Given the description of an element on the screen output the (x, y) to click on. 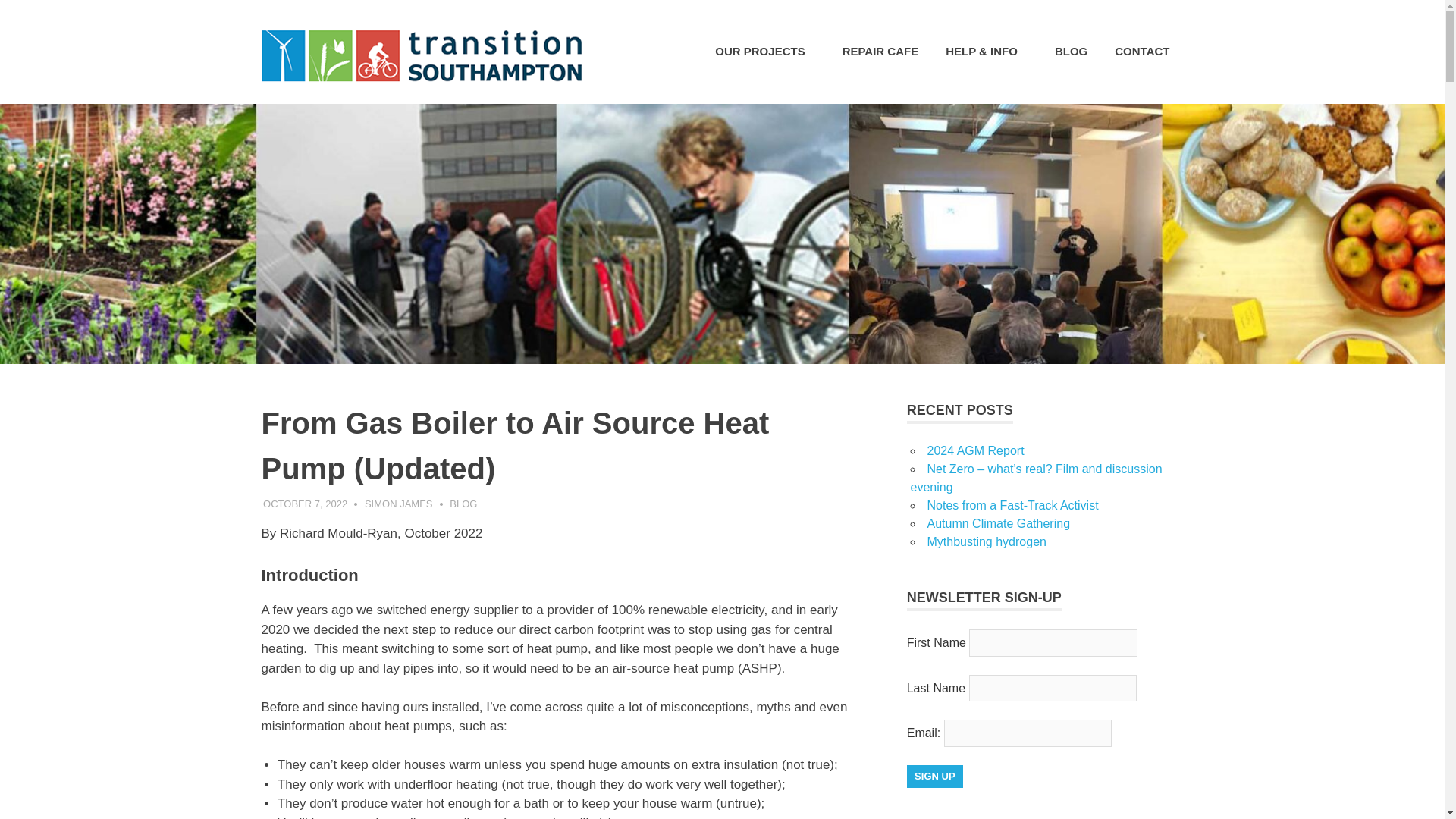
BLOG (1070, 51)
BLOG (463, 503)
CONTACT (1141, 51)
OUR PROJECTS (764, 51)
View all posts by Simon James (398, 503)
OCTOBER 7, 2022 (305, 503)
Sign up (934, 775)
7:39 pm (305, 503)
REPAIR CAFE (880, 51)
SIMON JAMES (398, 503)
